Given the description of an element on the screen output the (x, y) to click on. 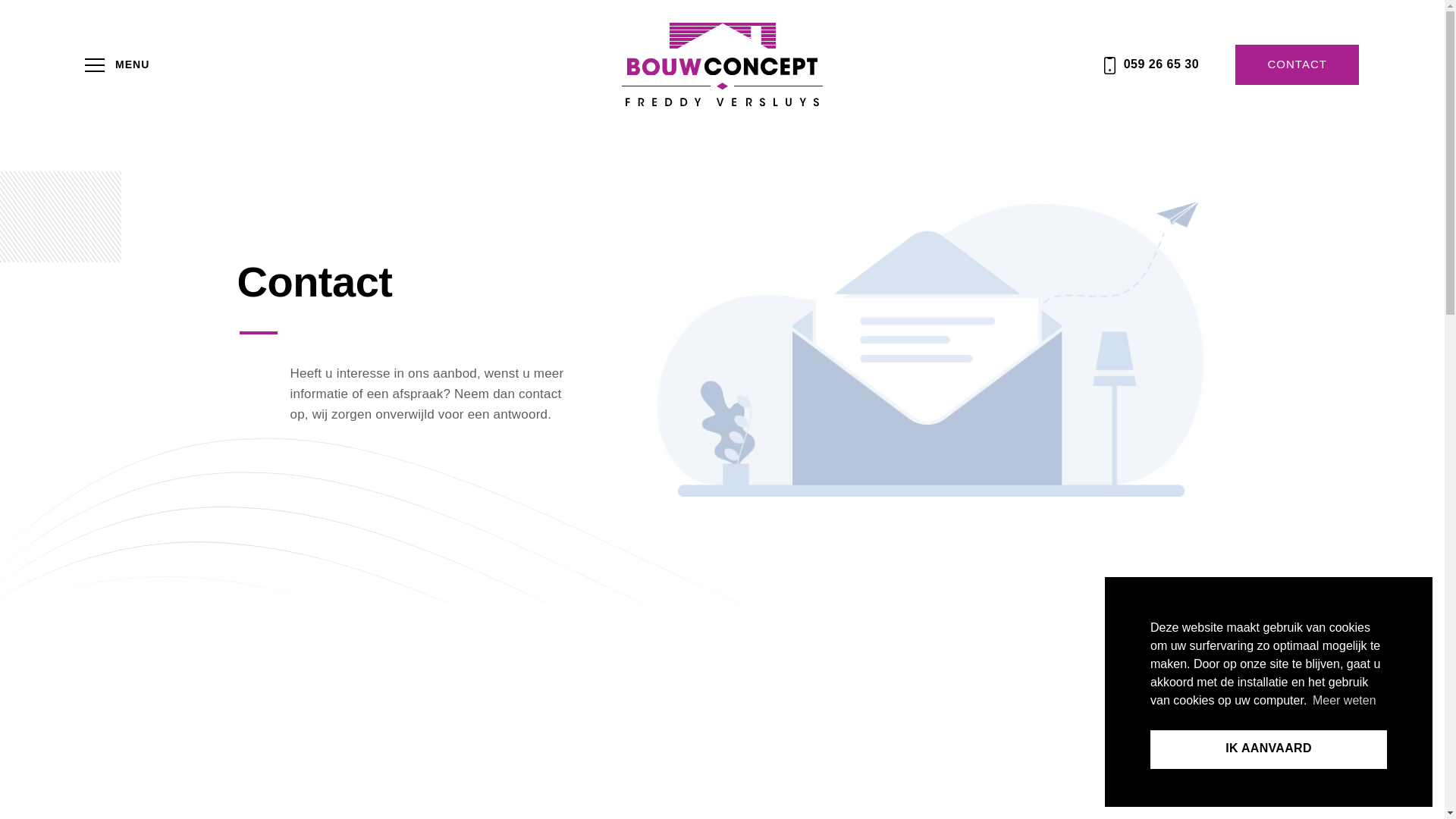
IK AANVAARD Element type: text (1268, 749)
CONTACT Element type: text (1296, 64)
Meer weten Element type: text (1344, 700)
059 26 65 30 Element type: text (1151, 64)
